Given the description of an element on the screen output the (x, y) to click on. 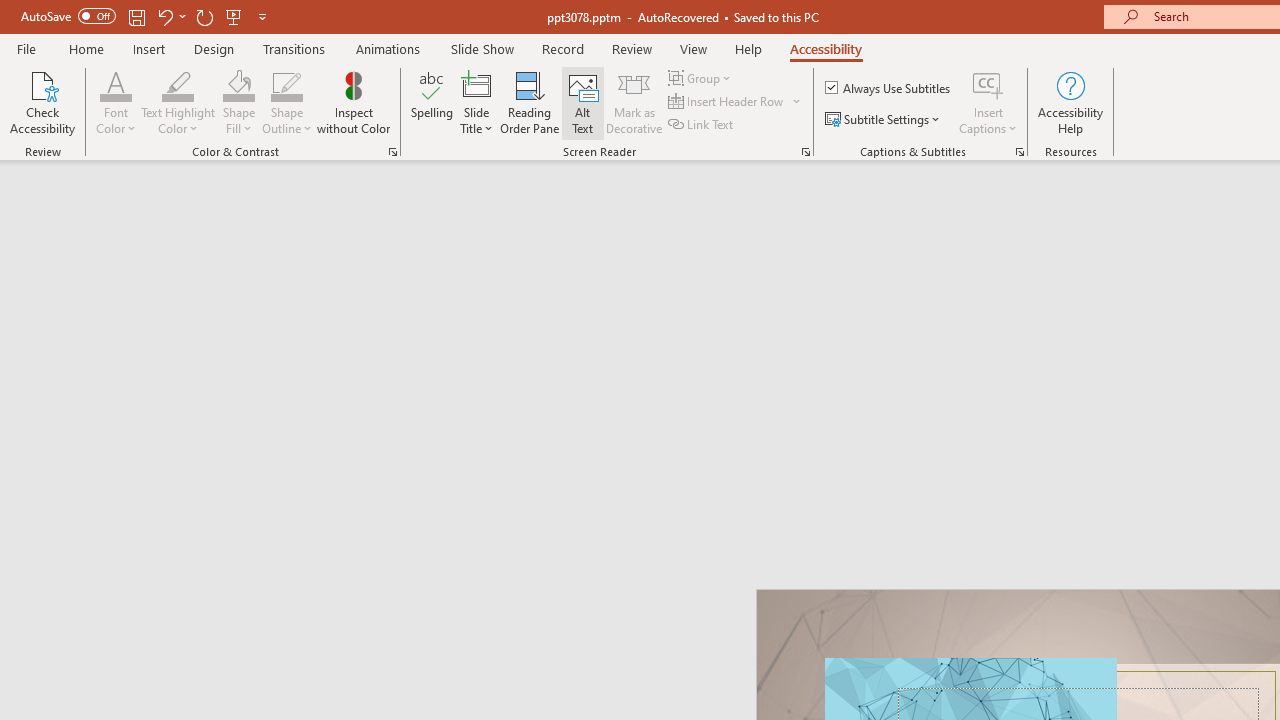
Always Use Subtitles (889, 87)
Inspect without Color (353, 102)
